Given the description of an element on the screen output the (x, y) to click on. 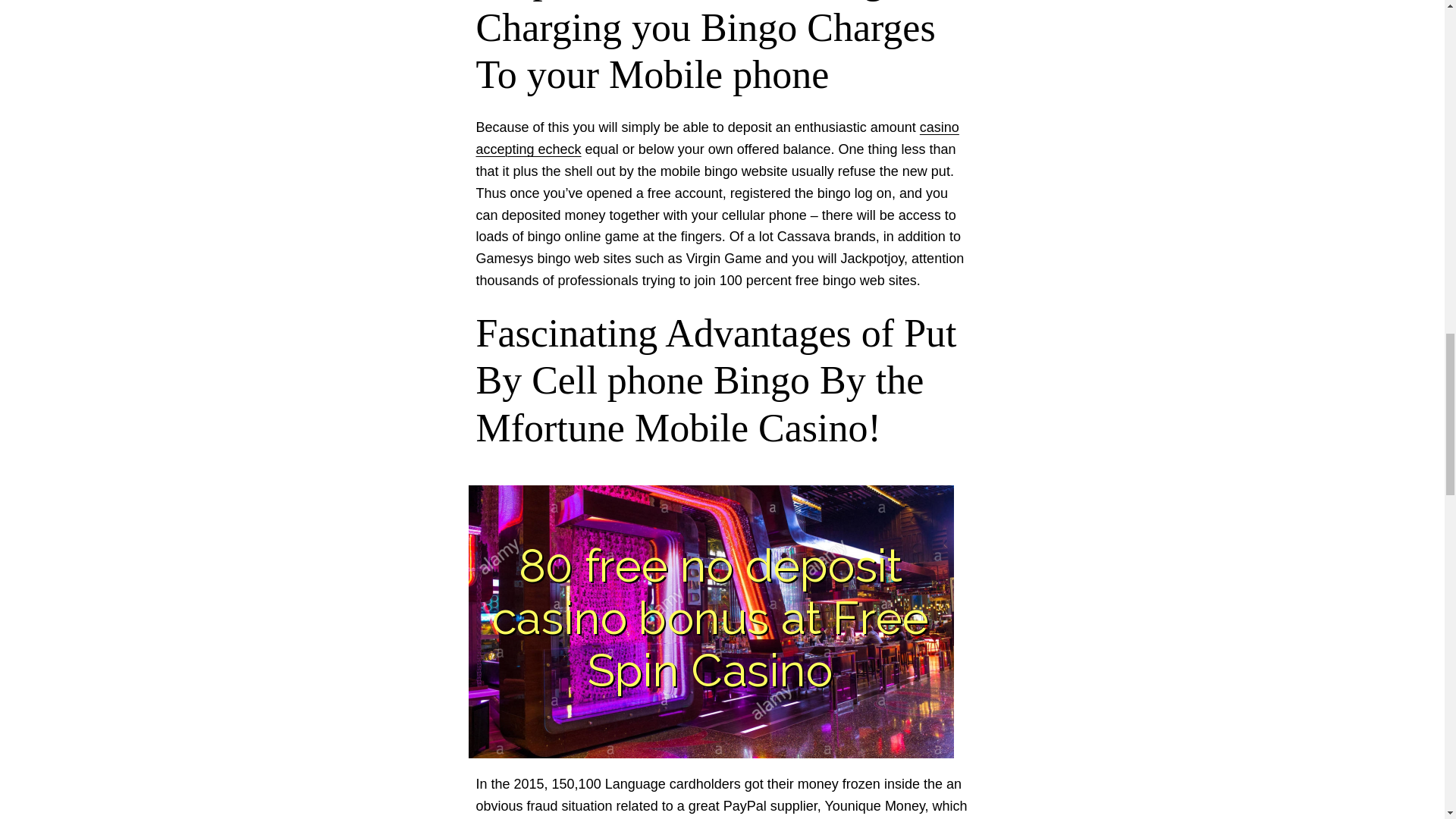
casino accepting echeck (717, 138)
